Given the description of an element on the screen output the (x, y) to click on. 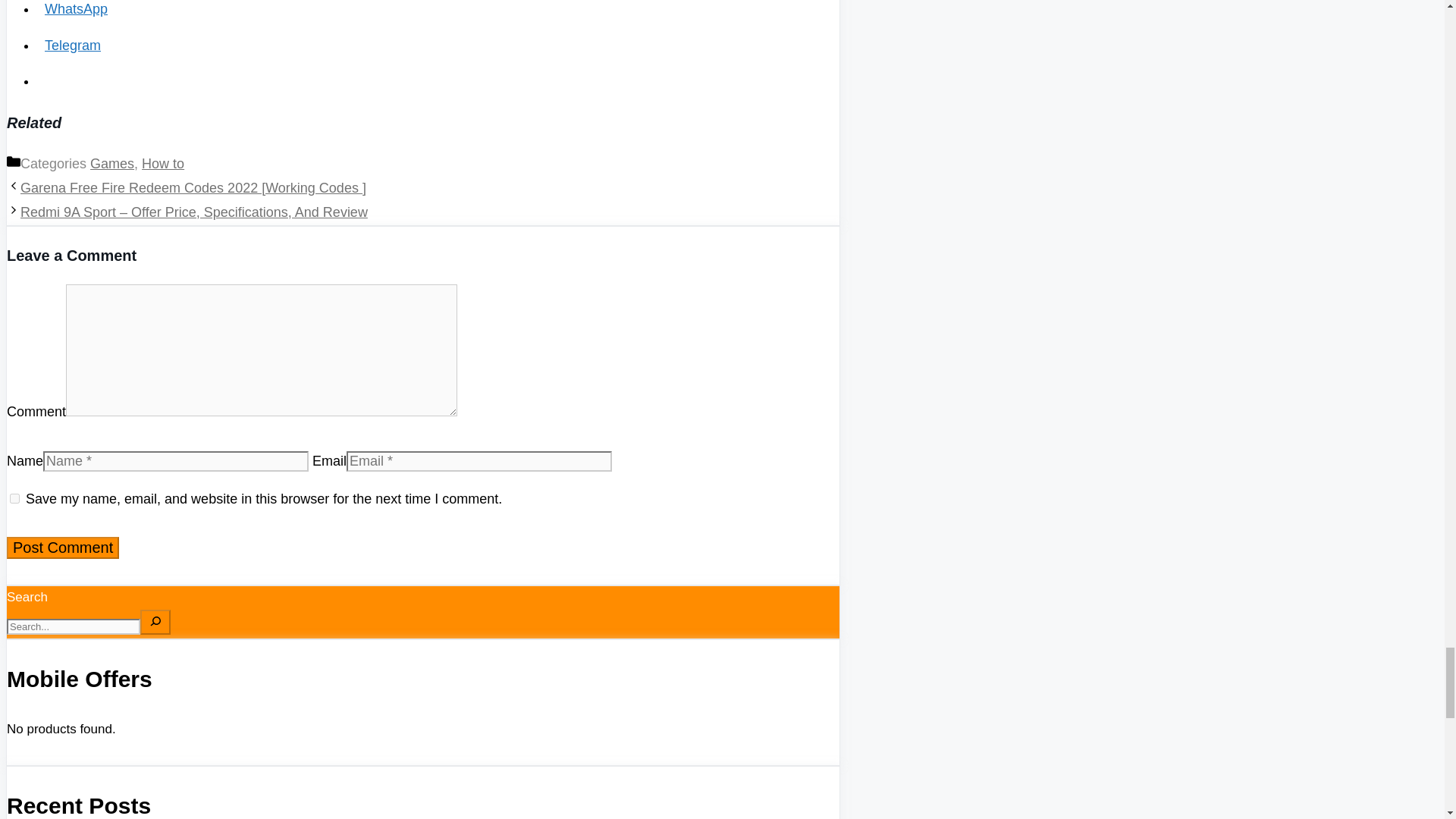
Post Comment (63, 547)
WhatsApp (76, 8)
How to (162, 163)
Post Comment (63, 547)
Games (111, 163)
Telegram (72, 45)
Click to share on WhatsApp (76, 8)
yes (15, 498)
Click to share on Telegram (72, 45)
